Given the description of an element on the screen output the (x, y) to click on. 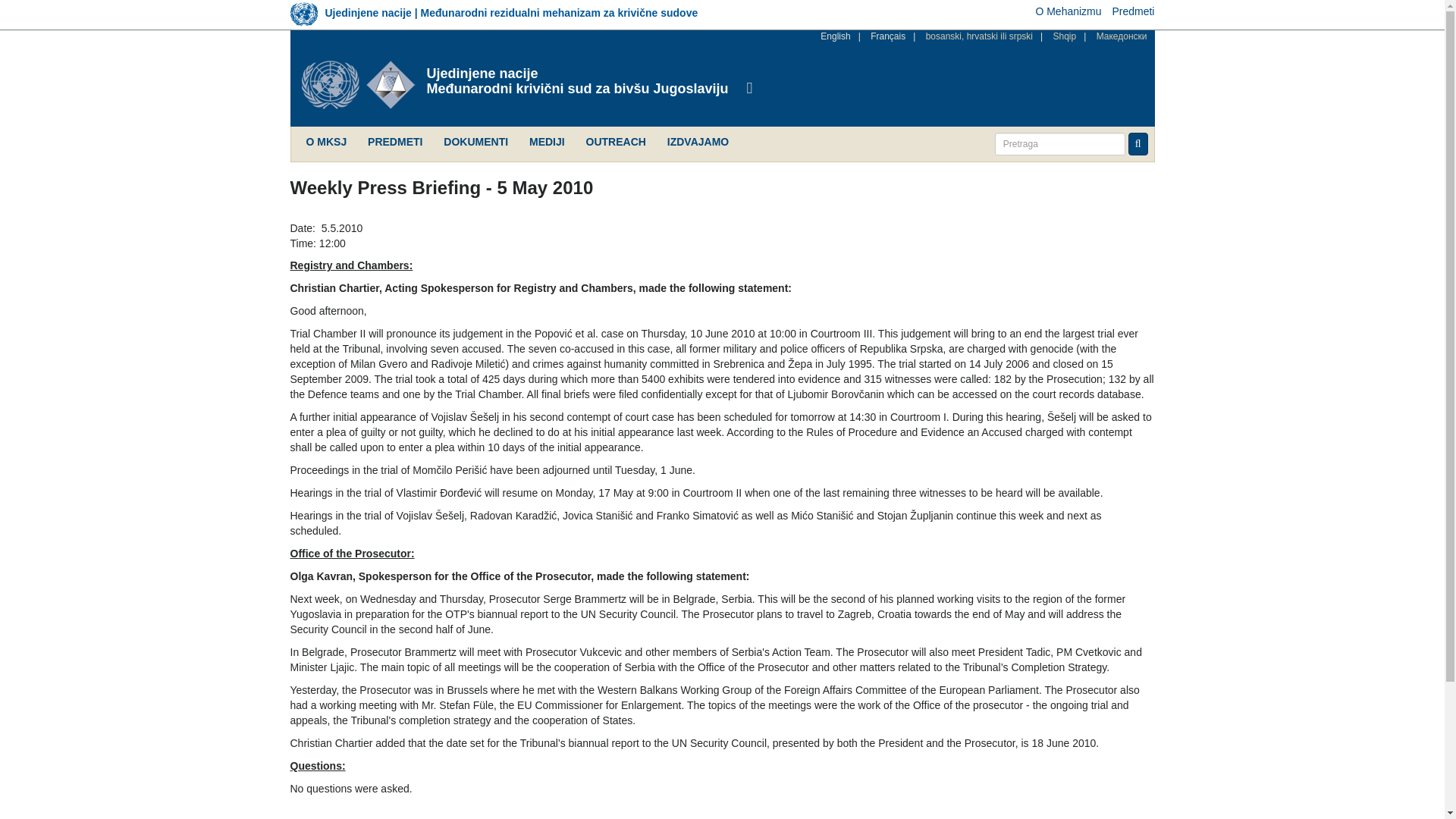
PREDMETI (394, 142)
IZDVAJAMO (698, 142)
DOKUMENTI (474, 142)
English (835, 36)
Predmeti (1133, 10)
Weekly Press Briefing - 5 May 2010 (835, 36)
Home (363, 84)
MEDIJI (546, 142)
O MKSJ (326, 142)
Home (576, 73)
O Mehanizmu (1067, 10)
OUTREACH (615, 142)
